Given the description of an element on the screen output the (x, y) to click on. 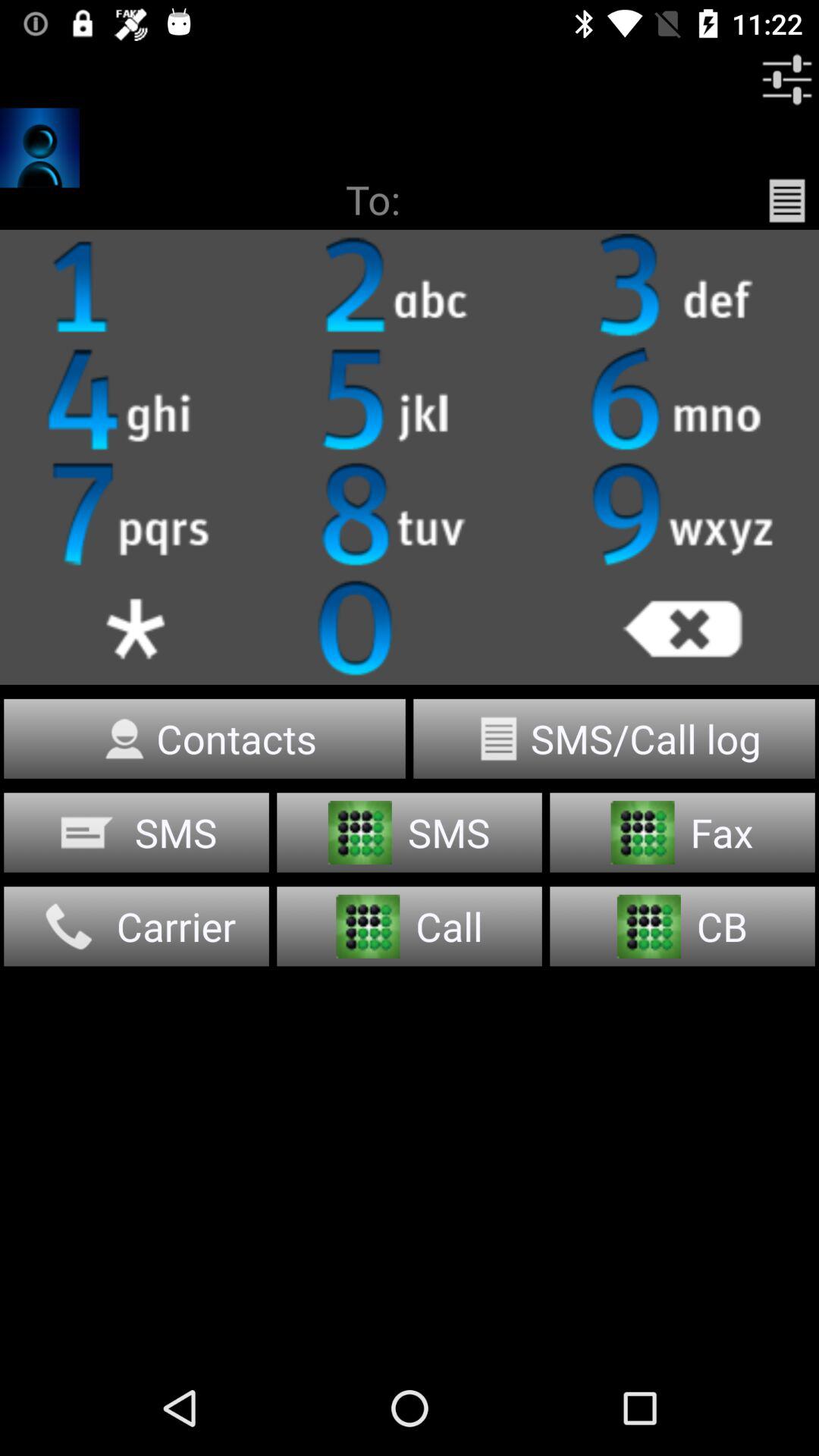
click on 0 (409, 628)
it is clickable (409, 285)
click on the text fax (681, 832)
click on text below 5 jkl (409, 514)
click on the button which says cb (681, 926)
click on cancel button which is in dialer just below the 9 (681, 628)
select the button which is right to the carrier button (409, 926)
go to sms (136, 832)
